Given the description of an element on the screen output the (x, y) to click on. 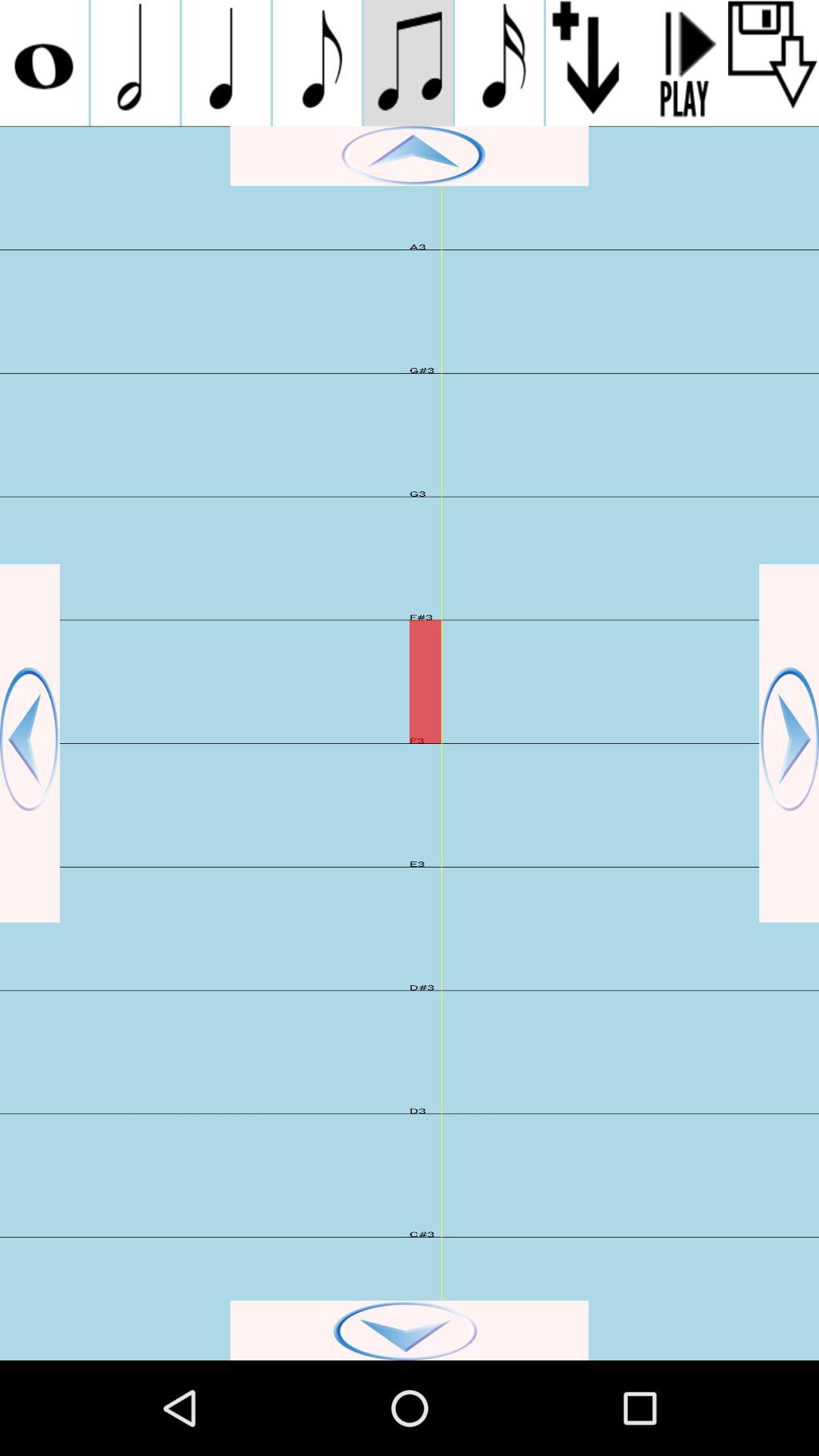
select the third music symbol option (226, 63)
